Given the description of an element on the screen output the (x, y) to click on. 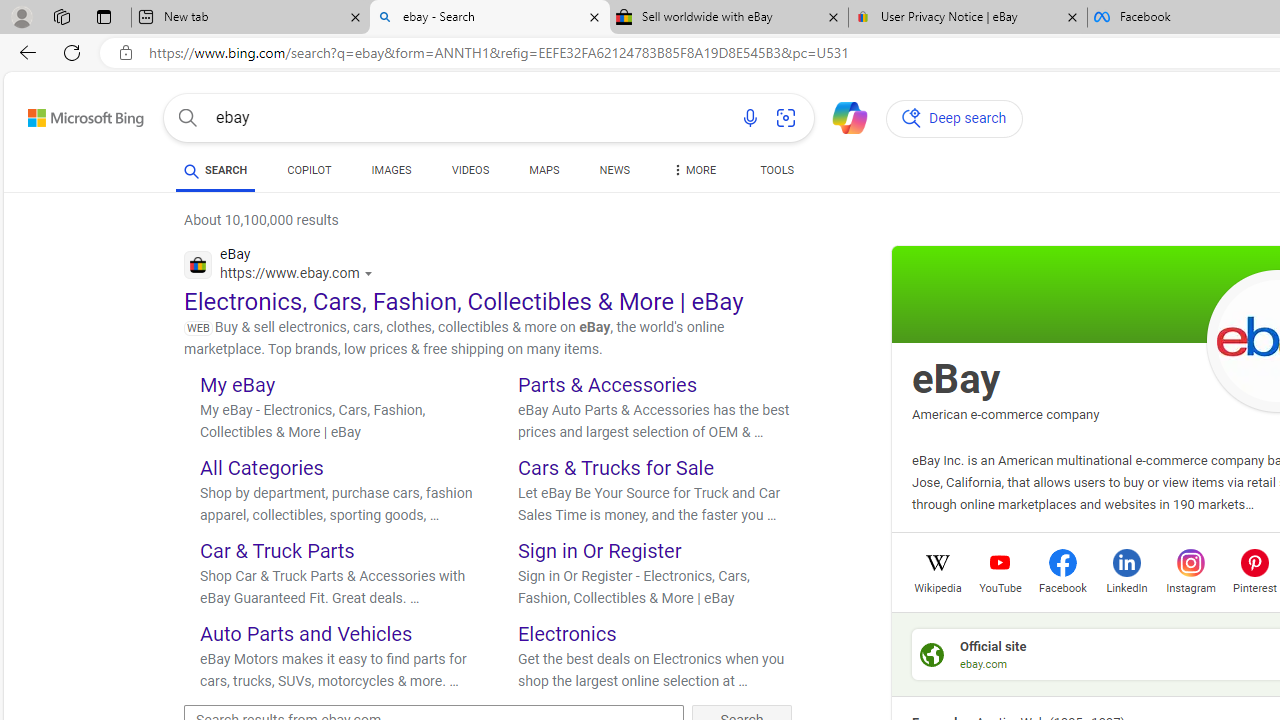
Pinterest (1254, 562)
Electronics (567, 632)
LinkedIn (1126, 586)
Sign in Or Register (600, 550)
Car & Truck Parts (276, 550)
NEWS (614, 173)
Back to Bing search (73, 113)
Global web icon (197, 264)
VIDEOS (469, 170)
Search button (187, 117)
